Given the description of an element on the screen output the (x, y) to click on. 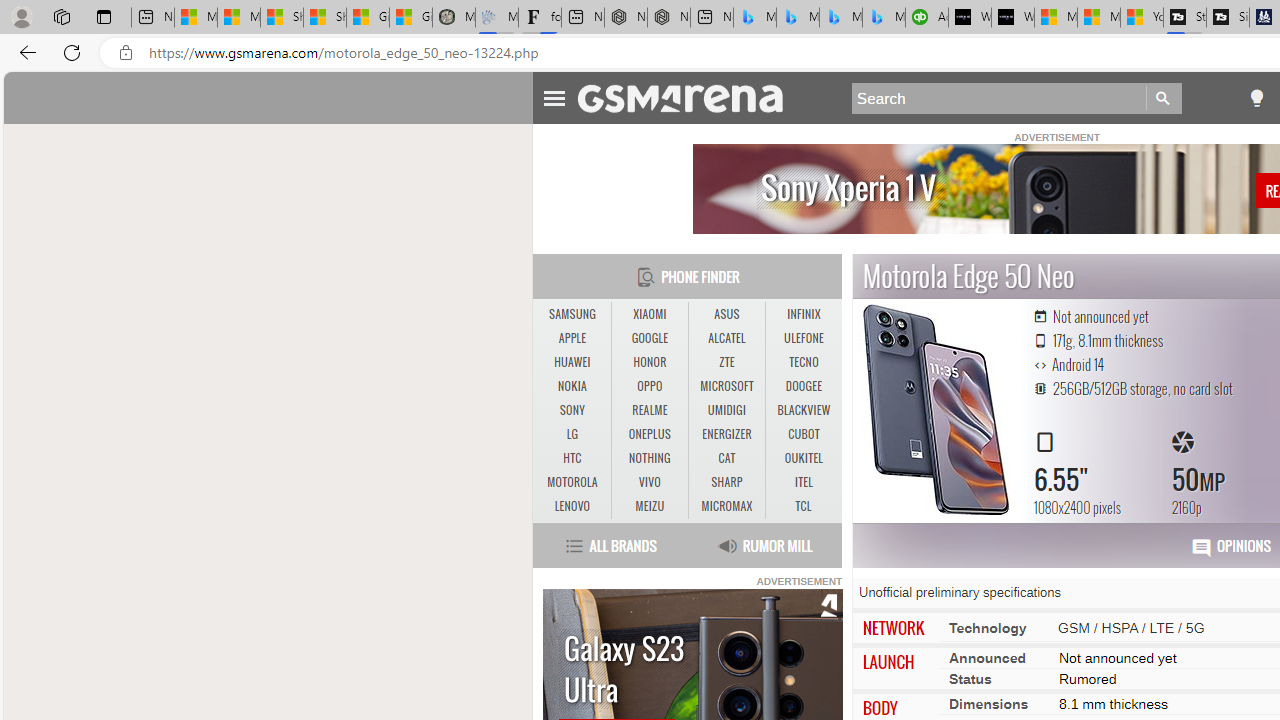
SAMSUNG (571, 313)
ITEL (803, 483)
ASUS (726, 313)
MOTOROLA (571, 482)
LG (571, 434)
BLACKVIEW (803, 410)
What's the best AI voice generator? - voice.ai (1013, 17)
